Given the description of an element on the screen output the (x, y) to click on. 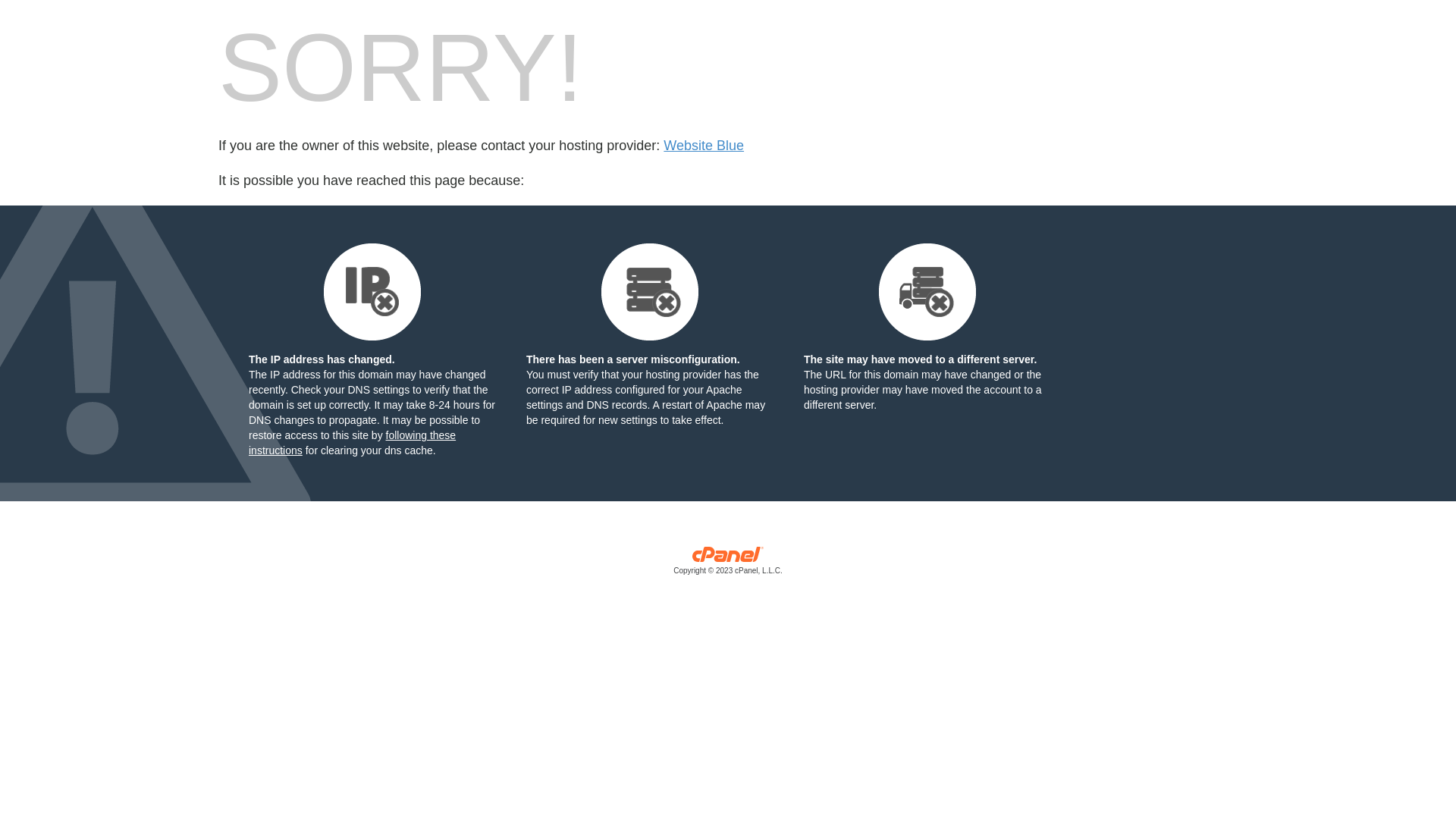
following these instructions Element type: text (351, 442)
Website Blue Element type: text (703, 145)
